Given the description of an element on the screen output the (x, y) to click on. 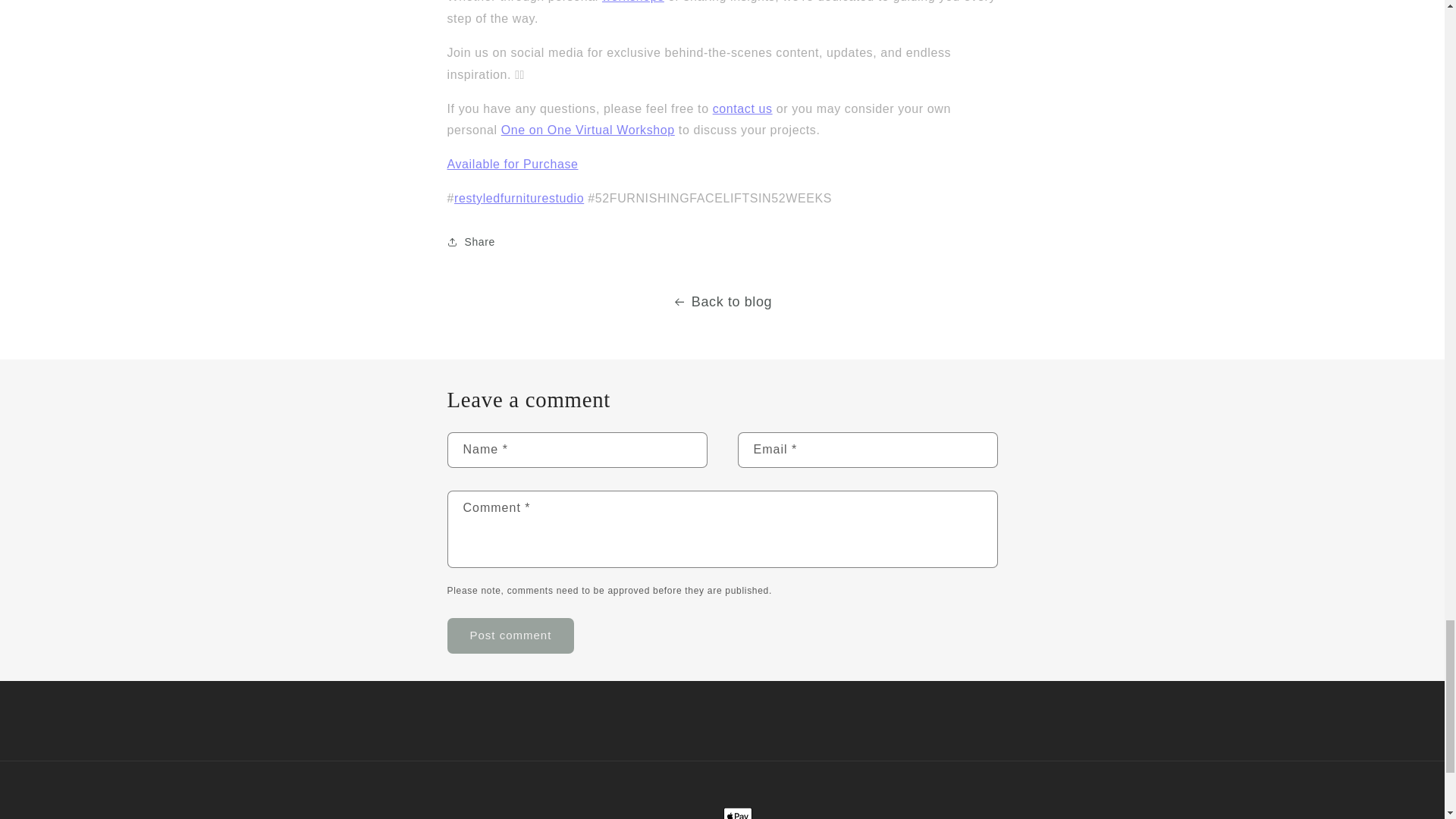
Contact Us Restyled Furniture Studio (743, 107)
One on One Virtual Workshop Restyled Furniture Studio (587, 129)
Post comment (510, 635)
Apple Pay (737, 813)
